Given the description of an element on the screen output the (x, y) to click on. 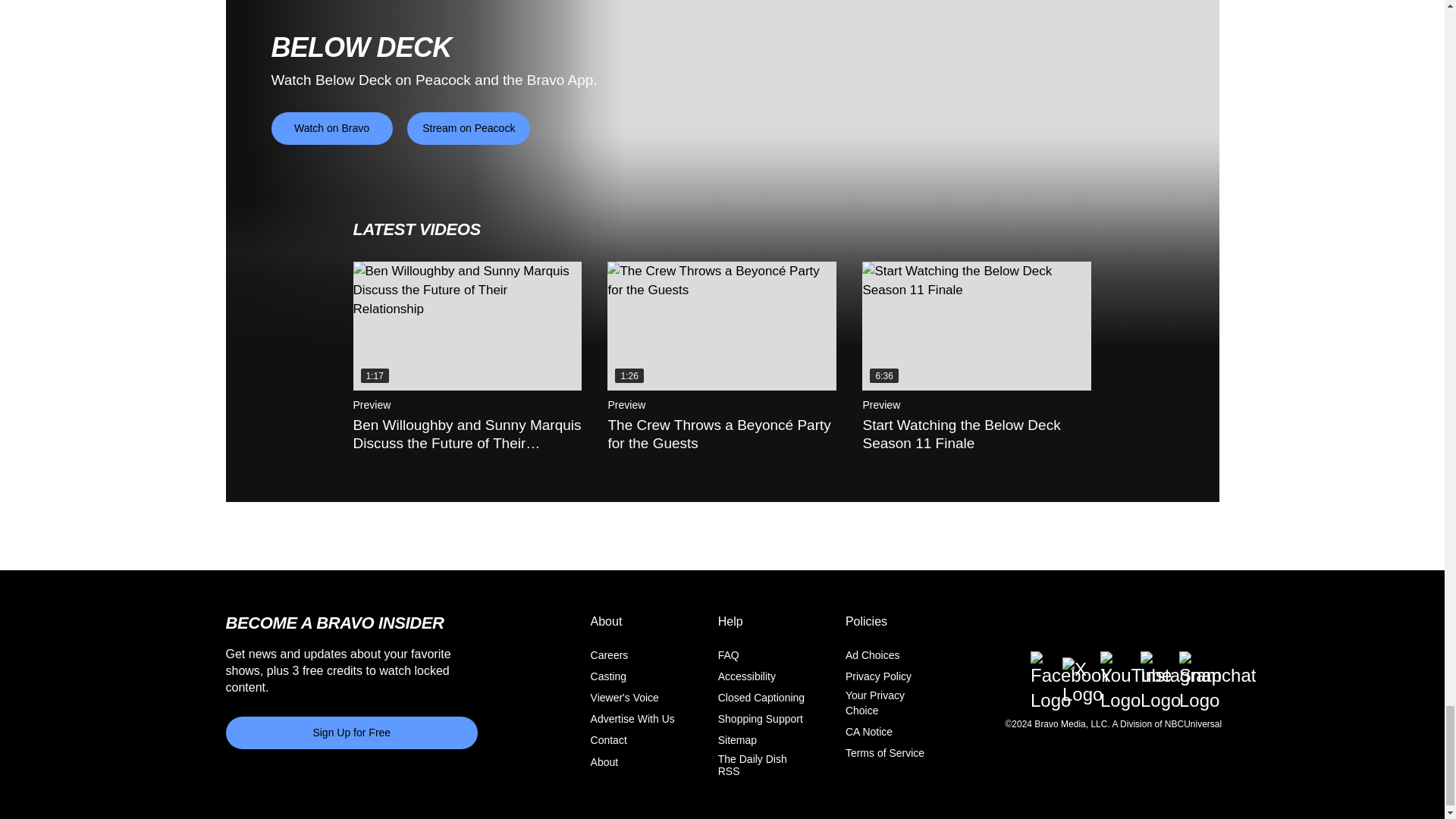
Advertise With Us (633, 718)
Start Watching the Below Deck Season 11 Finale (975, 325)
